Given the description of an element on the screen output the (x, y) to click on. 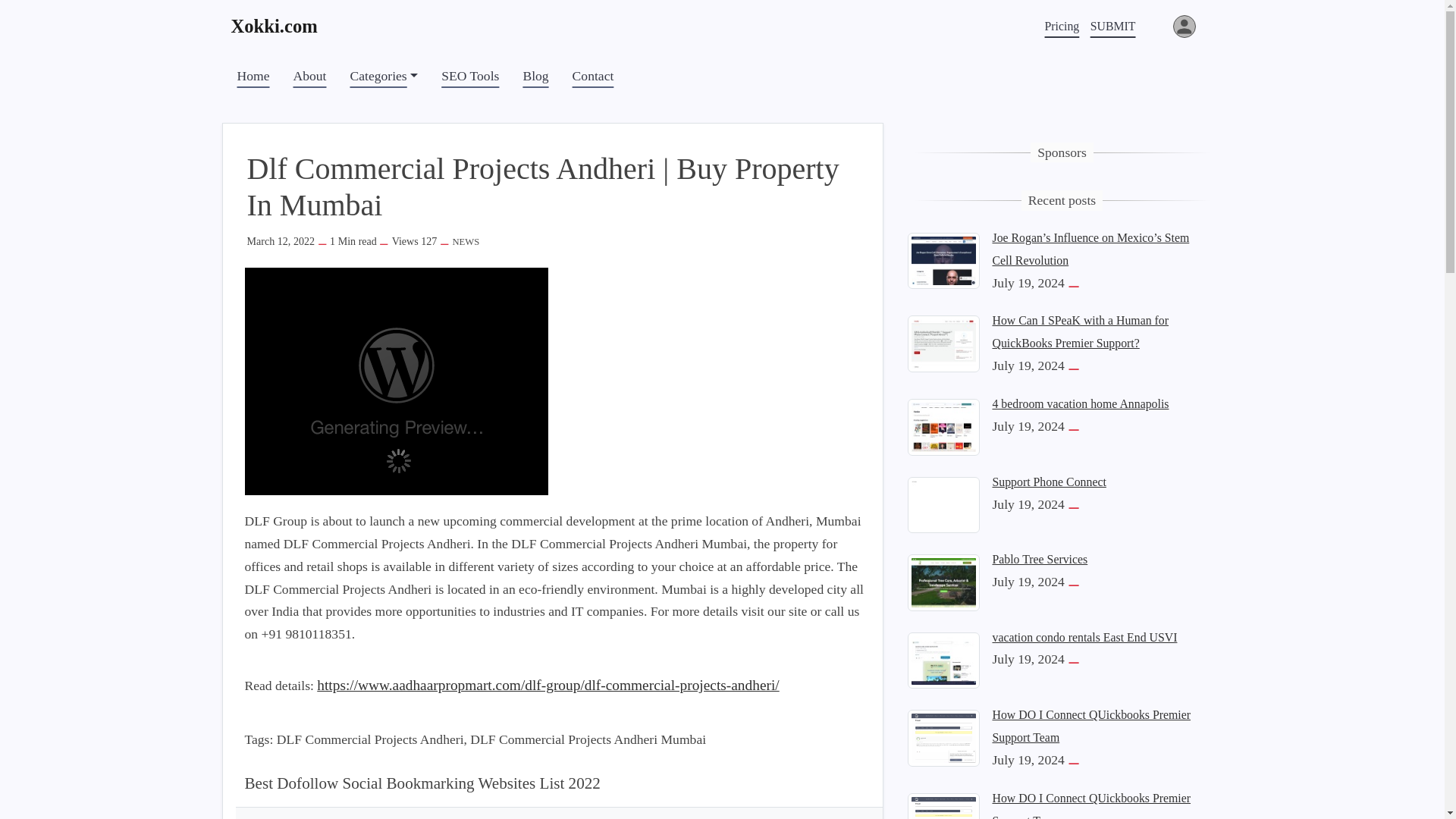
SEO Tools (470, 76)
Pricing (1062, 25)
Contact (593, 76)
How Can I SPeaK with a Human for QuickBooks Premier Support? (943, 342)
Home (252, 76)
About (308, 76)
SUBMIT (1113, 25)
Blog (535, 76)
Categories (383, 76)
Xokki.com (280, 25)
NEWS (465, 241)
4 bedroom vacation home Annapolis (943, 425)
How Can I SPeaK with a Human for QuickBooks Premier Support? (1080, 331)
